Given the description of an element on the screen output the (x, y) to click on. 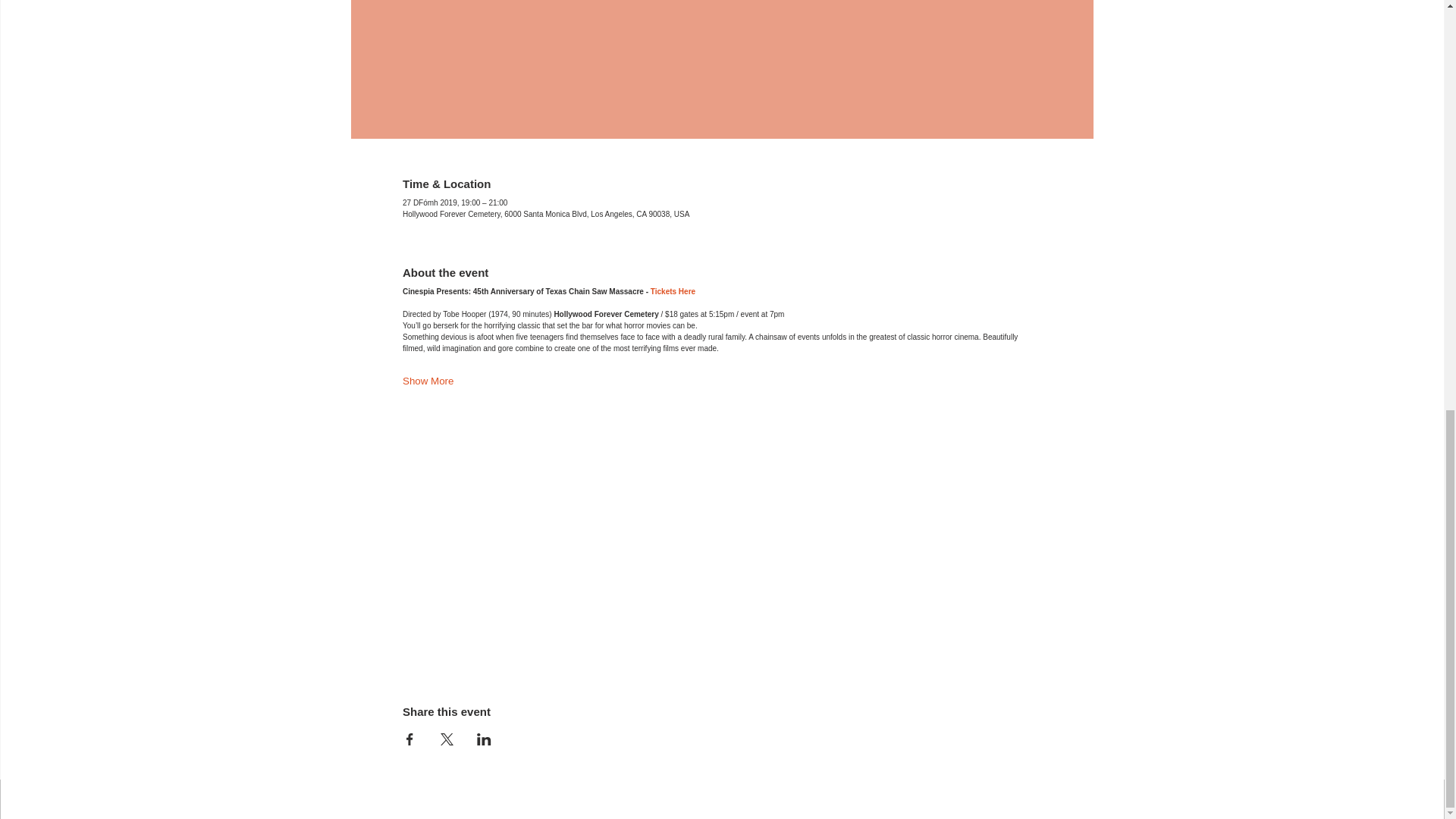
Show More (427, 381)
Tickets Here (672, 291)
